Given the description of an element on the screen output the (x, y) to click on. 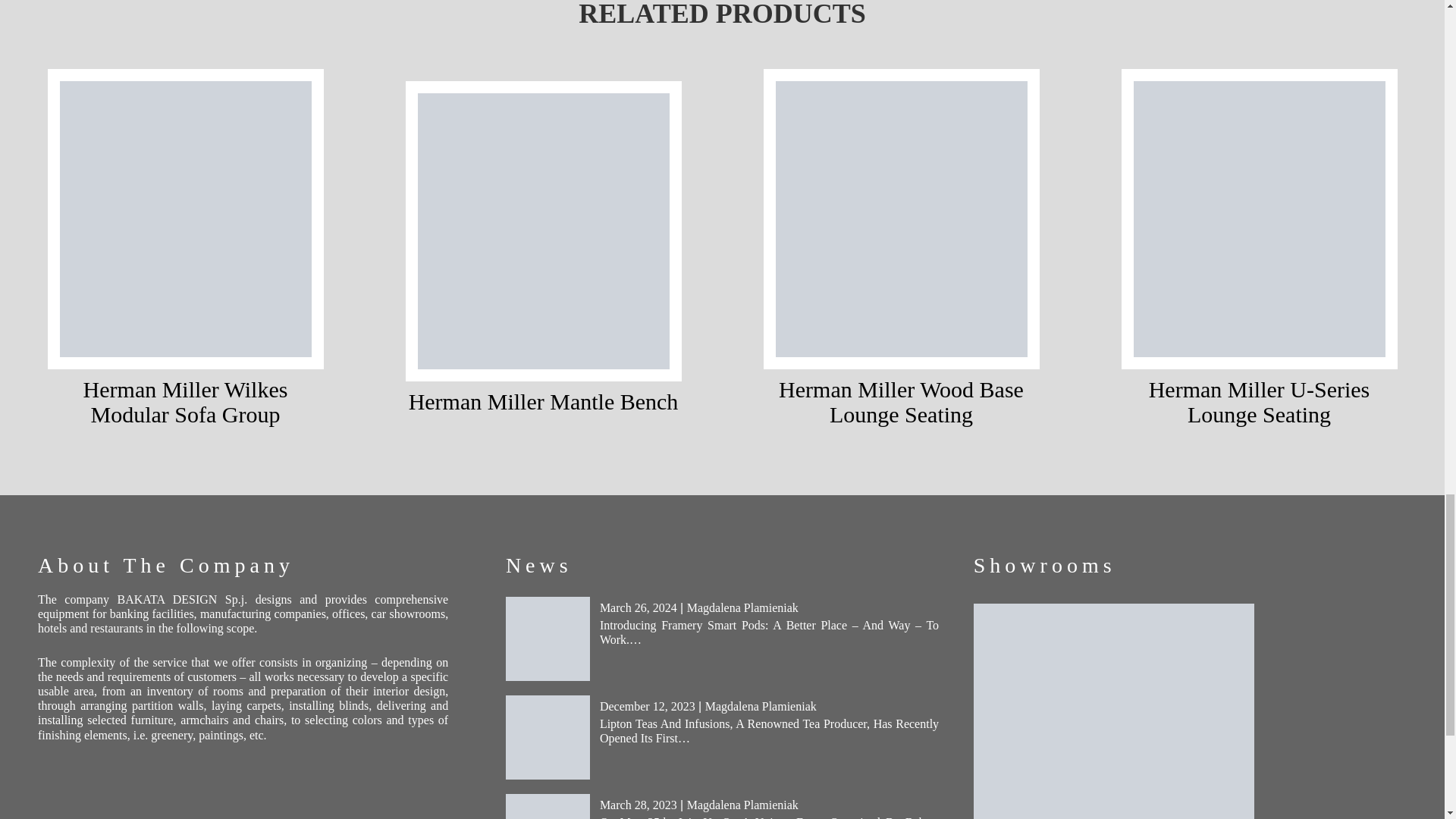
March 26, 2024 (638, 607)
December 12, 2023 (647, 706)
Magdalena Plamieniak (760, 706)
March 28, 2023 (638, 804)
Magdalena Plamieniak (742, 804)
Magdalena Plamieniak (742, 607)
